Given the description of an element on the screen output the (x, y) to click on. 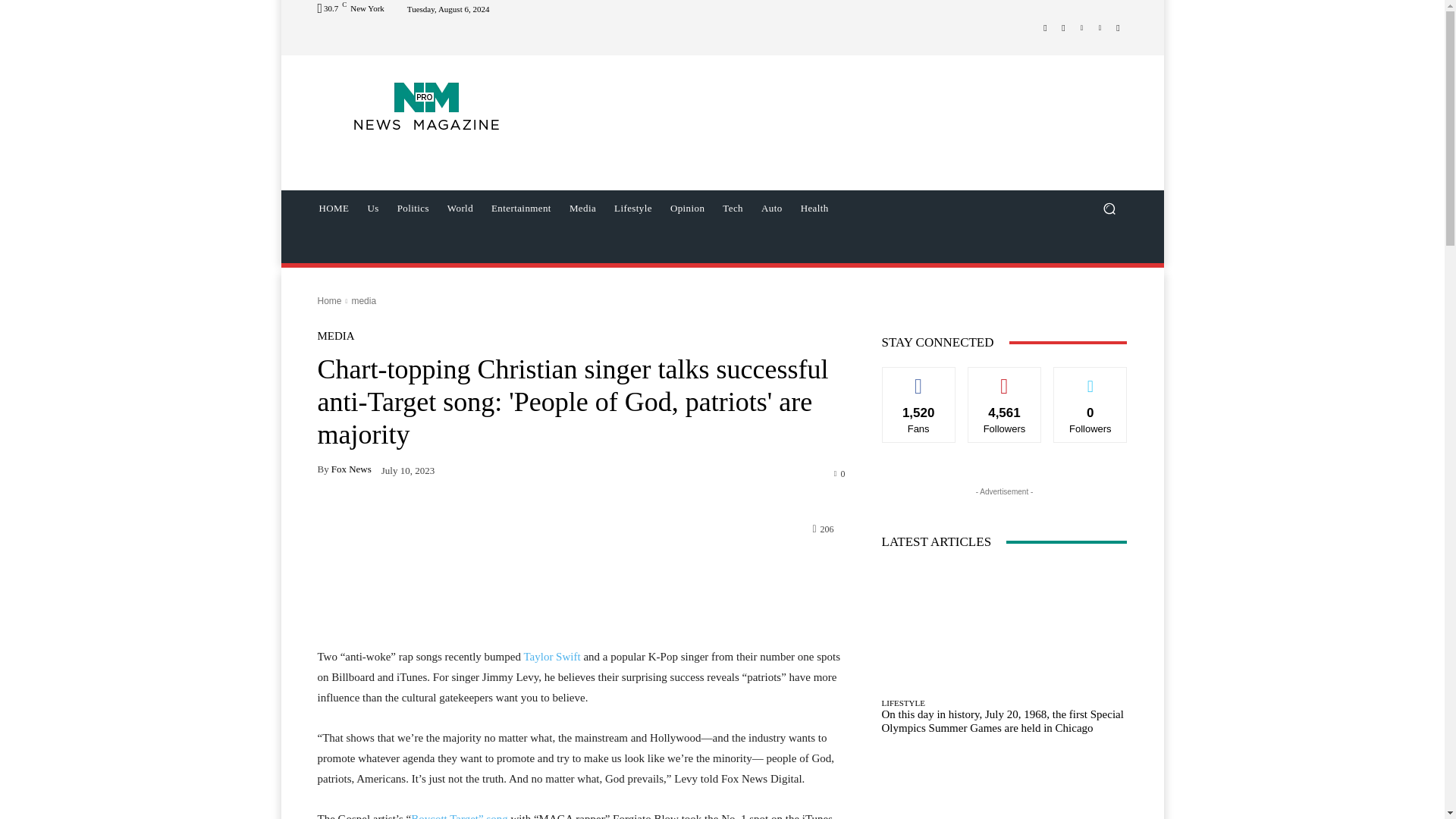
HOME (333, 208)
Lifestyle (633, 208)
Tech (732, 208)
Politics (413, 208)
Vimeo (1099, 27)
World (459, 208)
Instagram (1062, 27)
Entertainment (520, 208)
Twitter (1080, 27)
Opinion (687, 208)
